Given the description of an element on the screen output the (x, y) to click on. 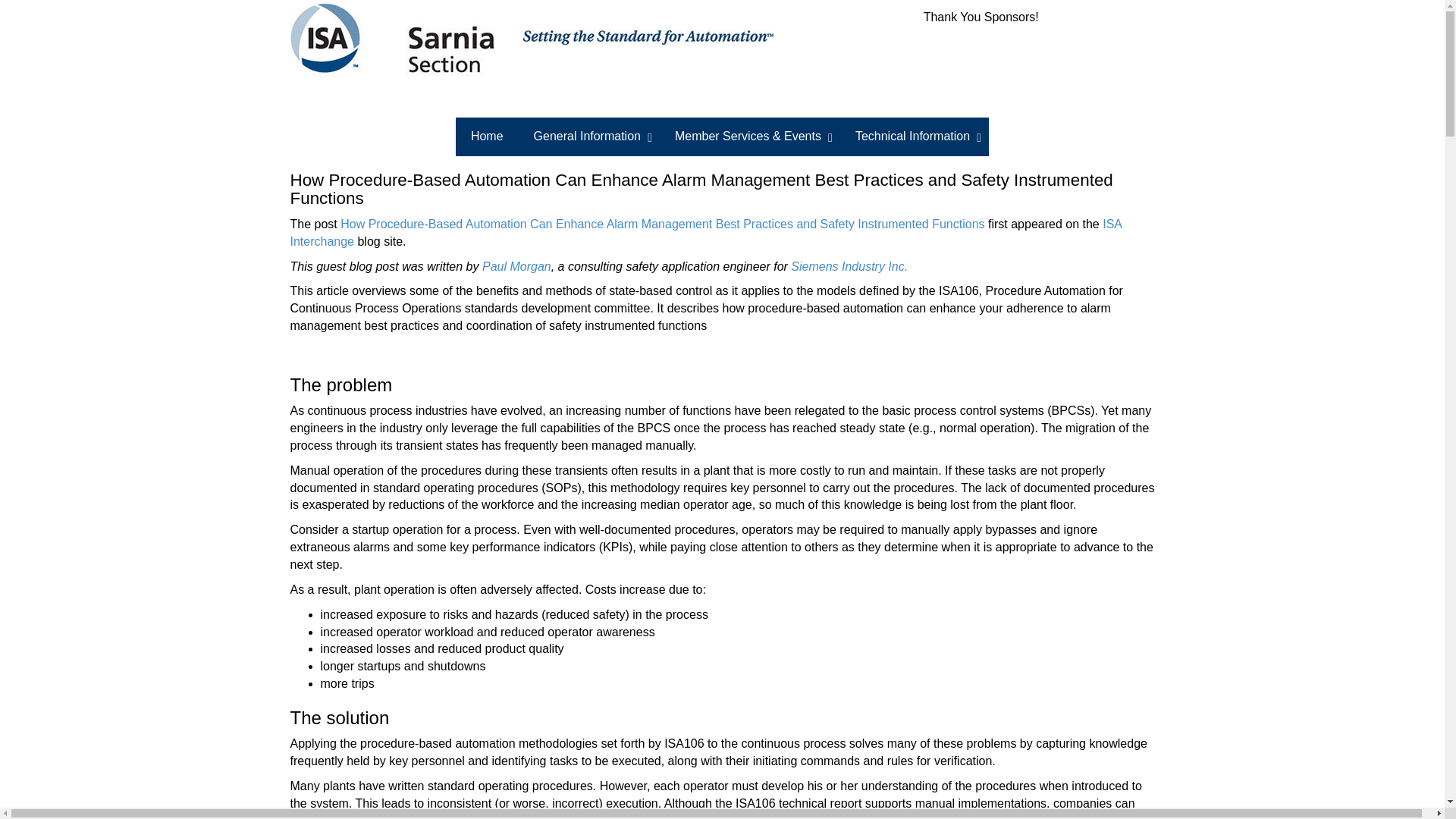
Paul Morgan (516, 266)
ISA Interchange (705, 232)
Home (486, 136)
